Given the description of an element on the screen output the (x, y) to click on. 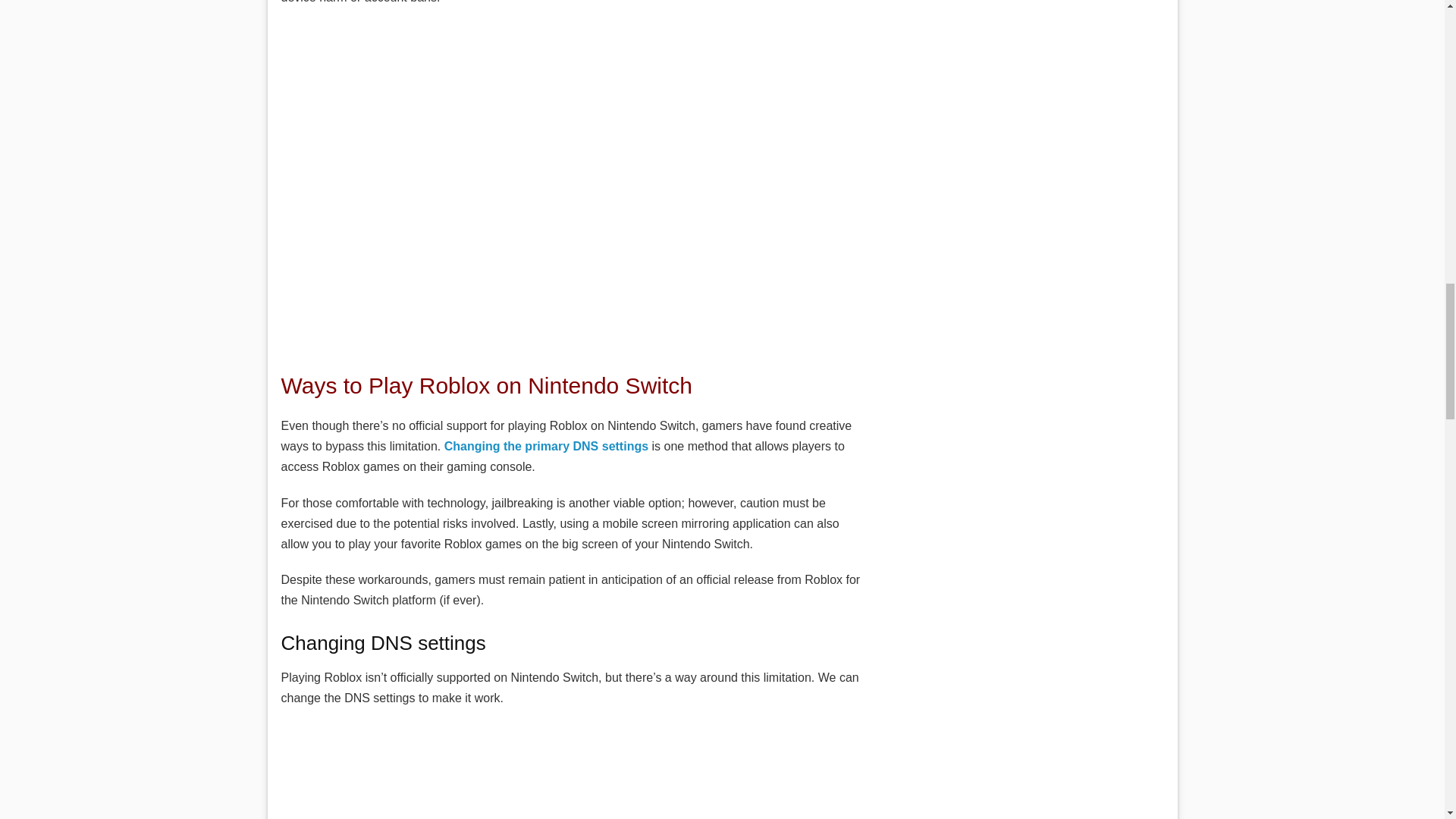
Changing the primary DNS settings (545, 445)
